Given the description of an element on the screen output the (x, y) to click on. 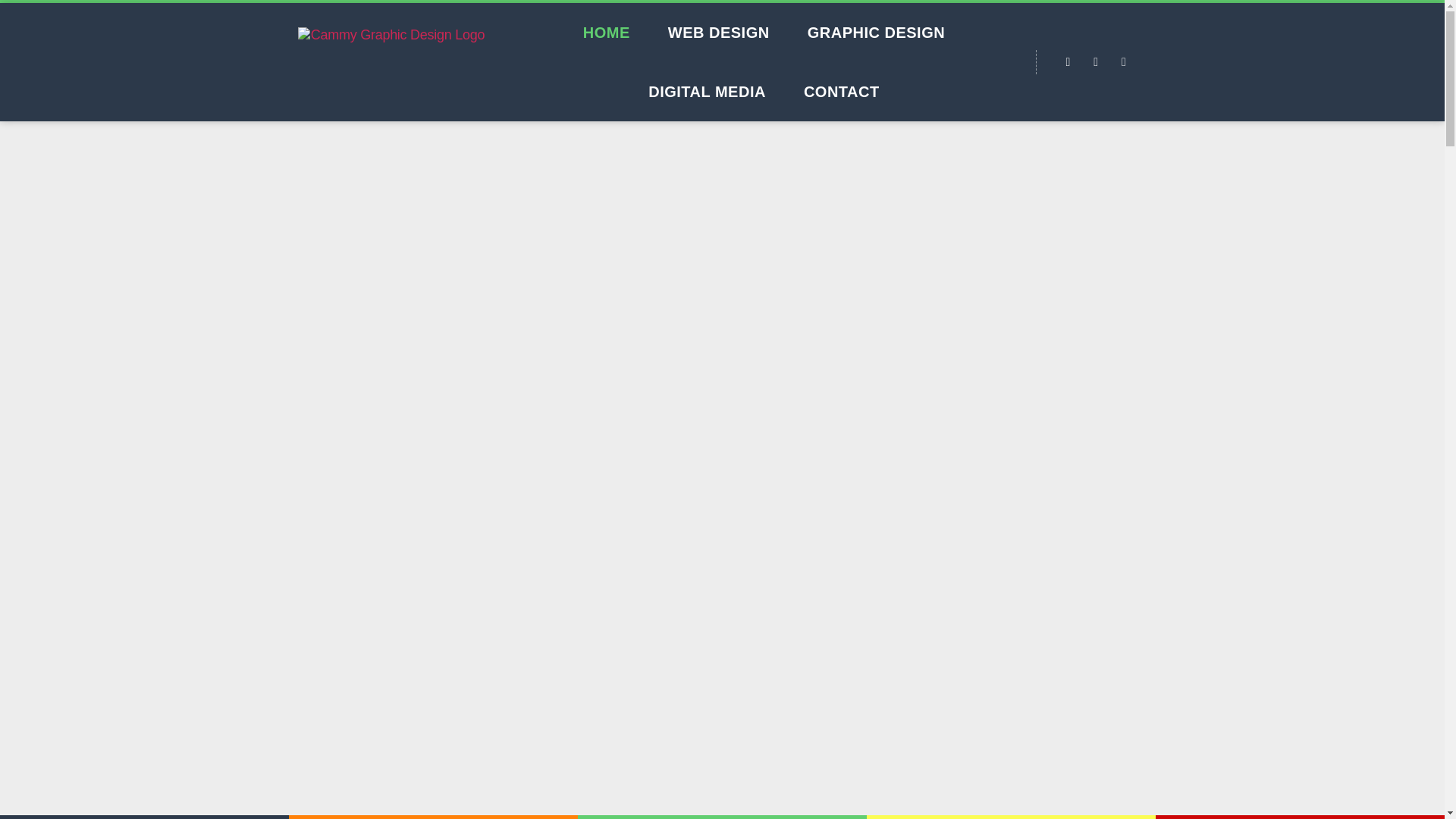
GRAPHIC DESIGN (876, 32)
WEB DESIGN (719, 32)
DIGITAL MEDIA (706, 91)
HOME (606, 32)
CONTACT (841, 91)
